Given the description of an element on the screen output the (x, y) to click on. 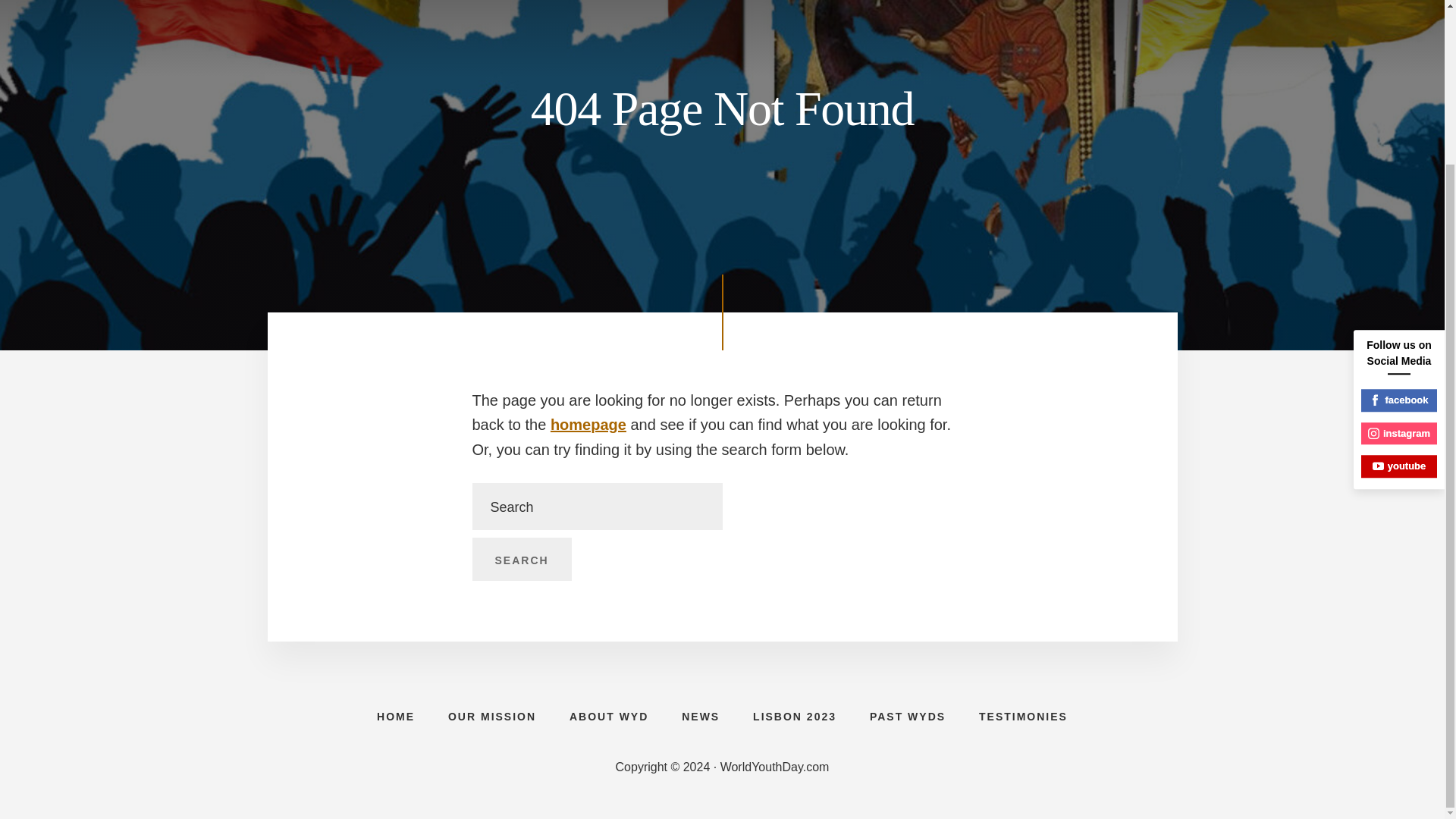
Search (520, 559)
NEWS (700, 716)
Search (520, 559)
ABOUT WYD (608, 716)
OUR MISSION (491, 716)
instagram (1399, 237)
youtube (1399, 270)
TESTIMONIES (1023, 716)
homepage (588, 424)
PAST WYDS (907, 716)
HOME (395, 716)
facebook (1399, 204)
Search (520, 559)
LISBON 2023 (794, 716)
